Given the description of an element on the screen output the (x, y) to click on. 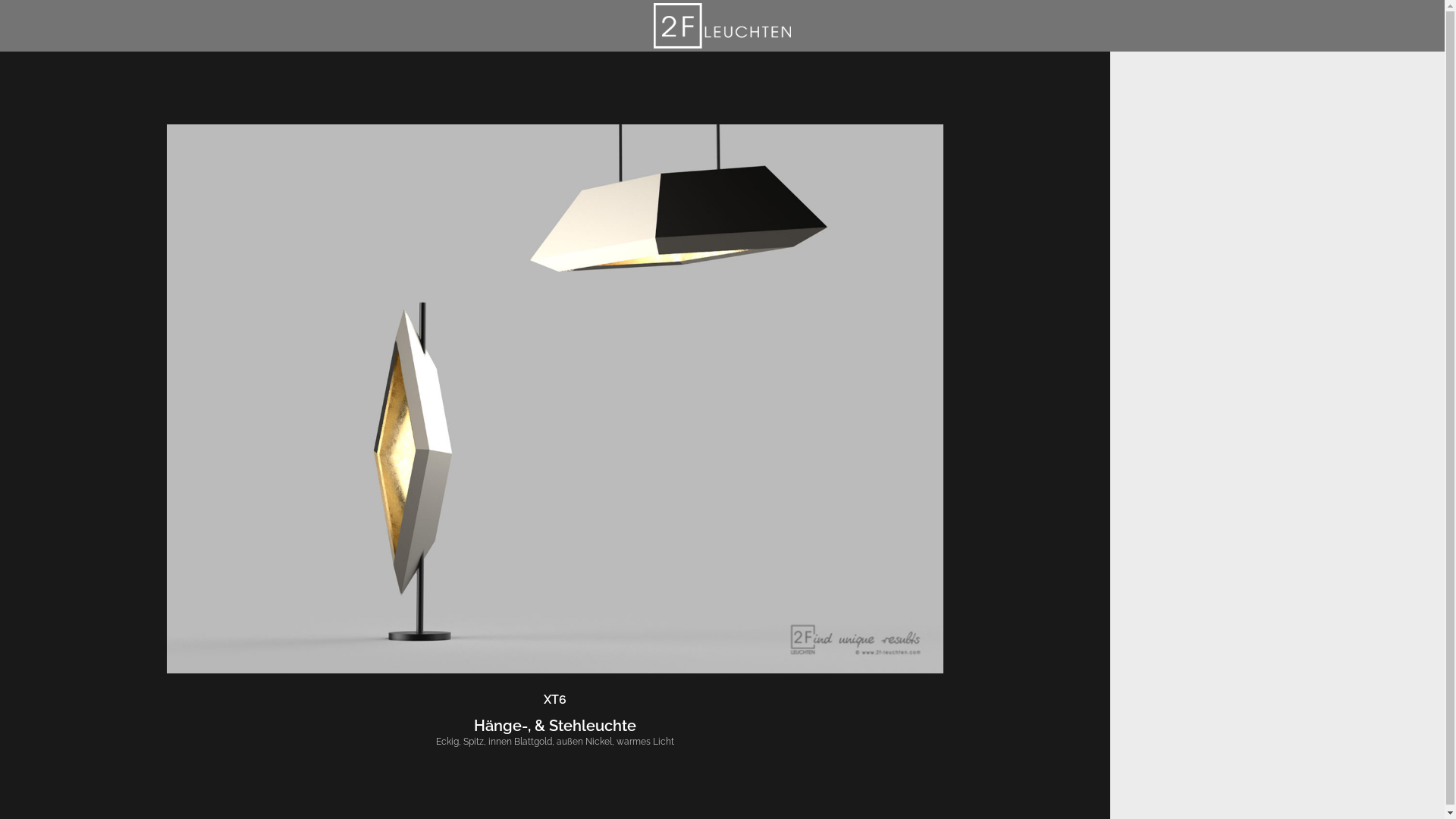
Deutsch Element type: text (1006, 14)
Lightroom Login Element type: text (945, 14)
DesignService Element type: text (389, 68)
Anfrage Element type: text (690, 140)
office@2f-leuchten.com Element type: text (430, 228)
Datenschutz Element type: text (957, 140)
Downloads Element type: text (888, 68)
Material Element type: text (664, 68)
Unternehmen Element type: text (1057, 68)
Produkte Element type: text (582, 68)
Video Element type: text (969, 68)
English Element type: text (1045, 14)
Kontakt Element type: text (460, 140)
Produktkonfigurator Element type: text (772, 68)
